Given the description of an element on the screen output the (x, y) to click on. 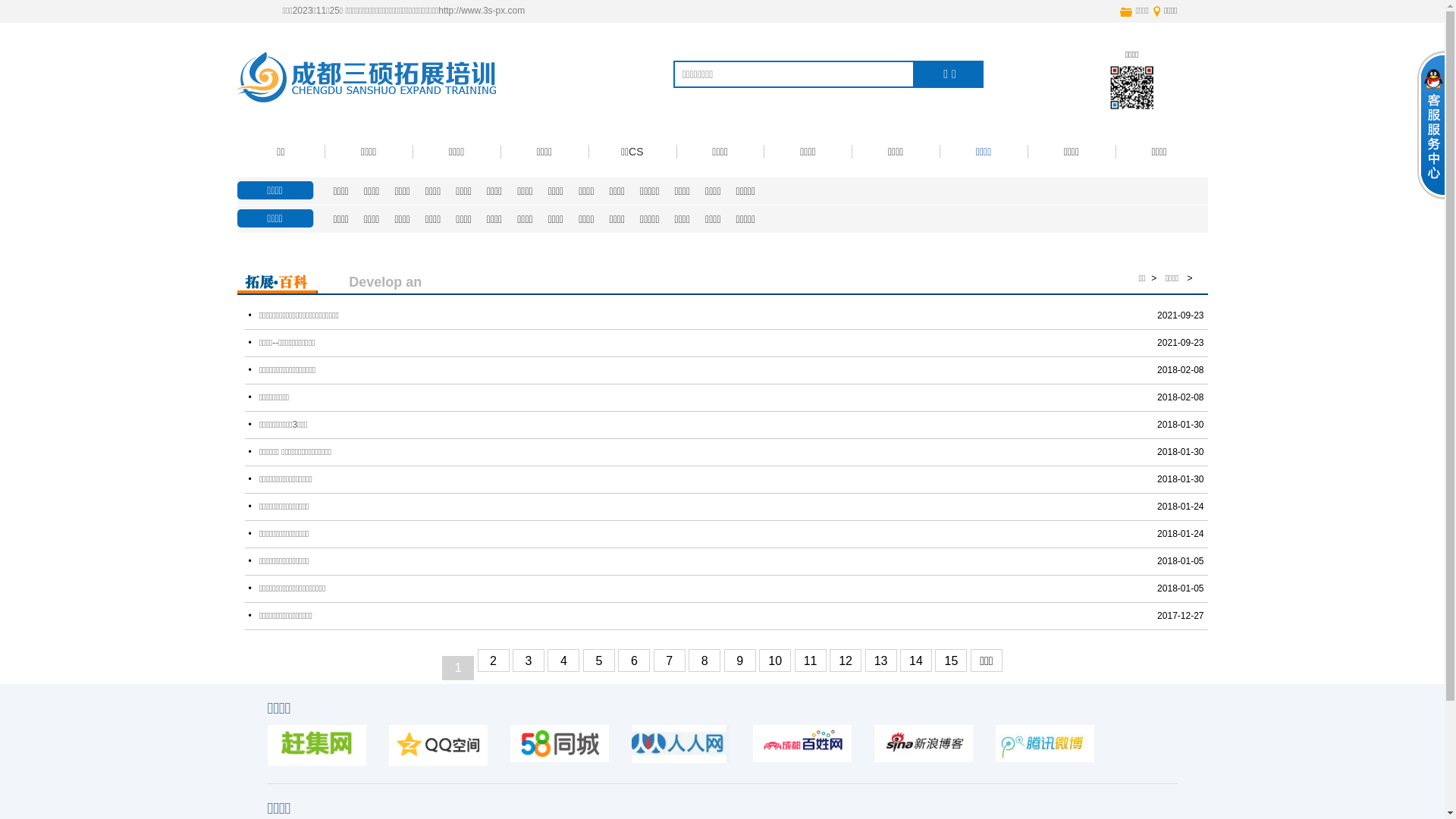
12 Element type: text (845, 660)
15 Element type: text (950, 660)
4 Element type: text (563, 660)
13 Element type: text (881, 660)
5 Element type: text (599, 660)
3 Element type: text (528, 660)
8 Element type: text (704, 660)
9 Element type: text (740, 660)
14 Element type: text (915, 660)
2 Element type: text (493, 660)
6 Element type: text (633, 660)
11 Element type: text (810, 660)
7 Element type: text (669, 660)
10 Element type: text (774, 660)
